Given the description of an element on the screen output the (x, y) to click on. 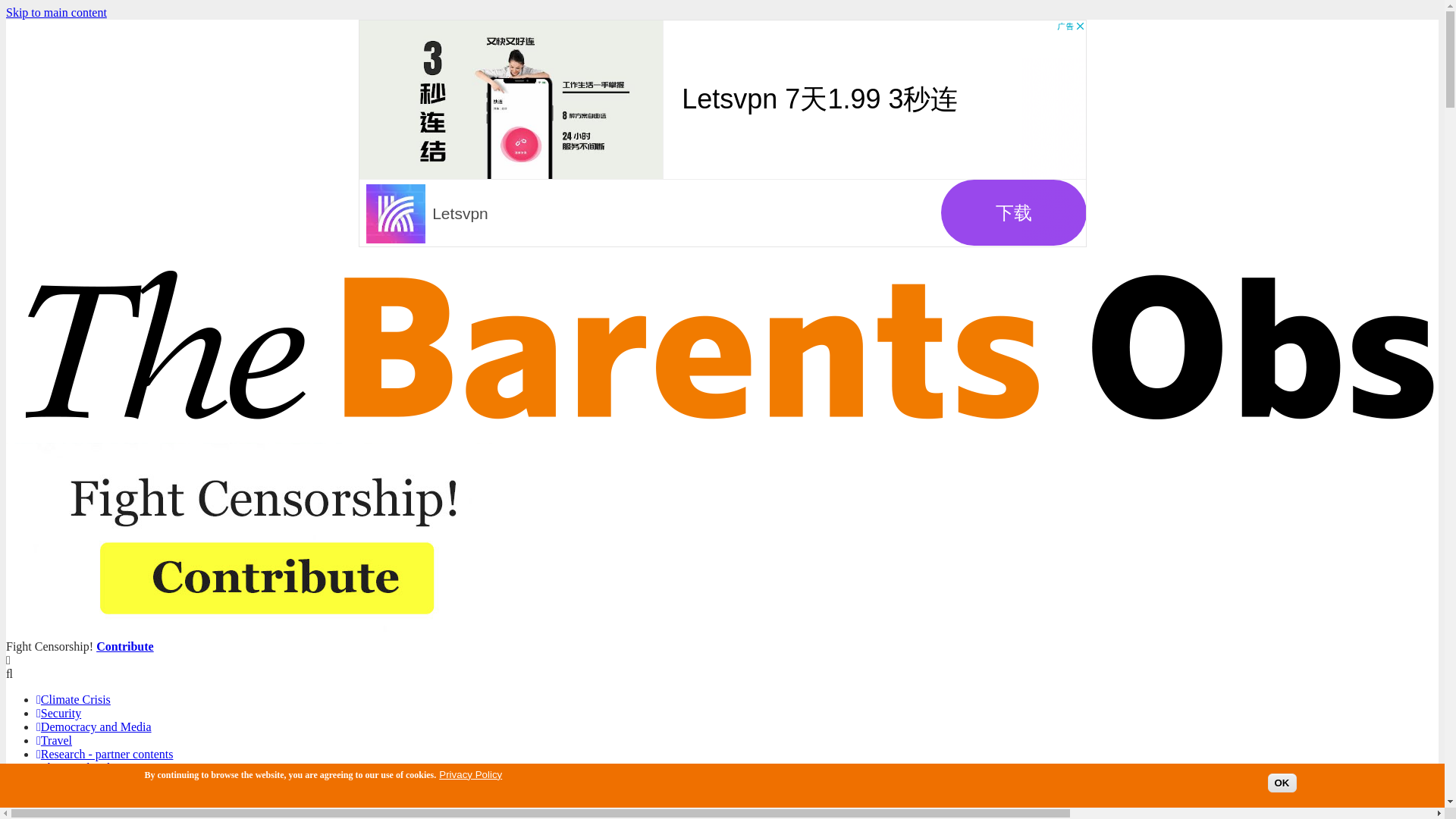
Climate Crisis (73, 698)
Research - partner contents (104, 753)
Security (58, 712)
Contribute (125, 645)
Skip to main content (55, 11)
Democracy and Media (93, 726)
Travel (53, 739)
English (55, 809)
Photo and Video (78, 767)
